Given the description of an element on the screen output the (x, y) to click on. 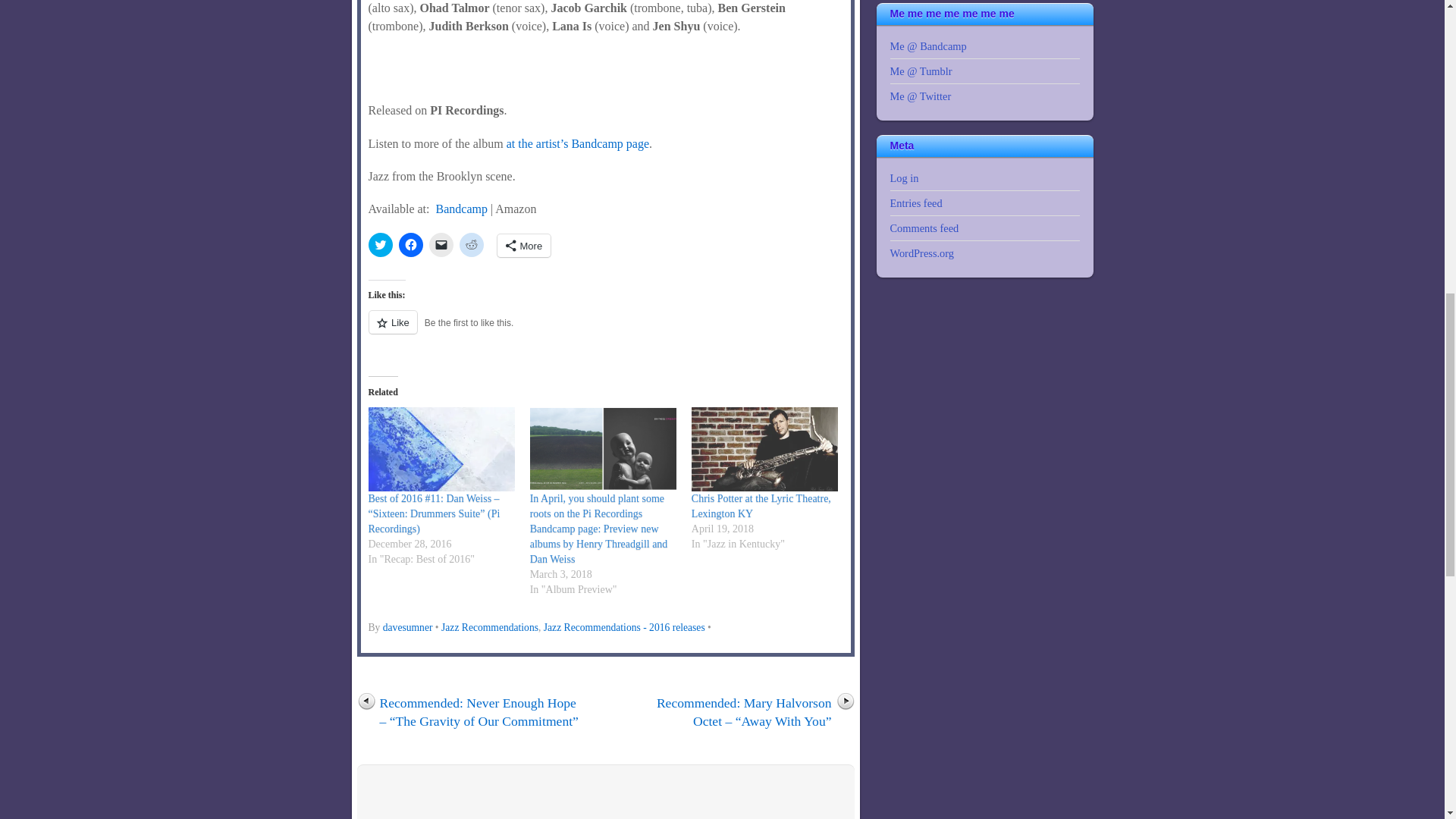
Click to email a link to a friend (440, 244)
Jazz Recommendations - 2016 releases (623, 627)
More (524, 245)
davesumner (407, 627)
Like or Reblog (605, 331)
Bandcamp (460, 208)
Chris Potter at the Lyric Theatre, Lexington KY (761, 506)
Click to share on Reddit (471, 244)
Click to share on Facebook (410, 244)
Click to share on Twitter (380, 244)
Jazz Recommendations (489, 627)
